Given the description of an element on the screen output the (x, y) to click on. 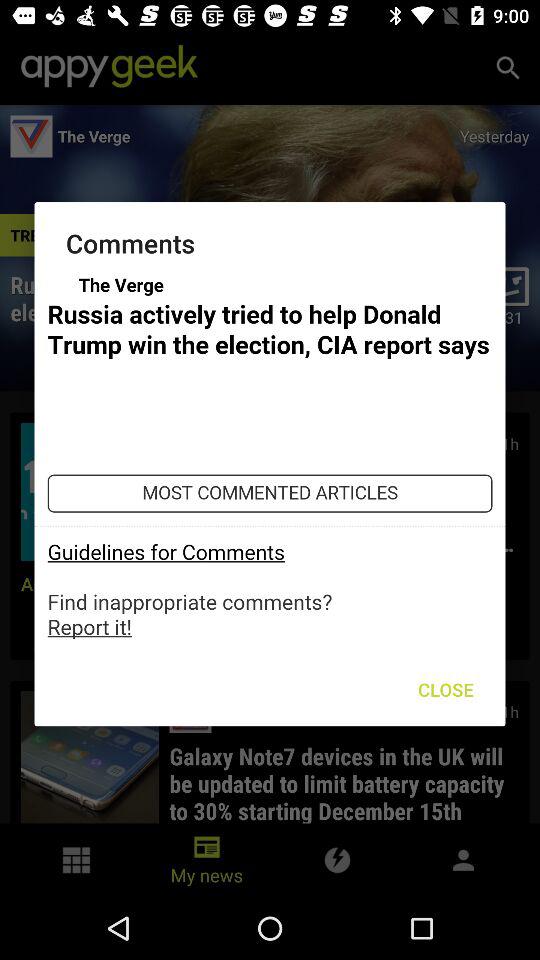
toggle autoplay option (269, 456)
